Given the description of an element on the screen output the (x, y) to click on. 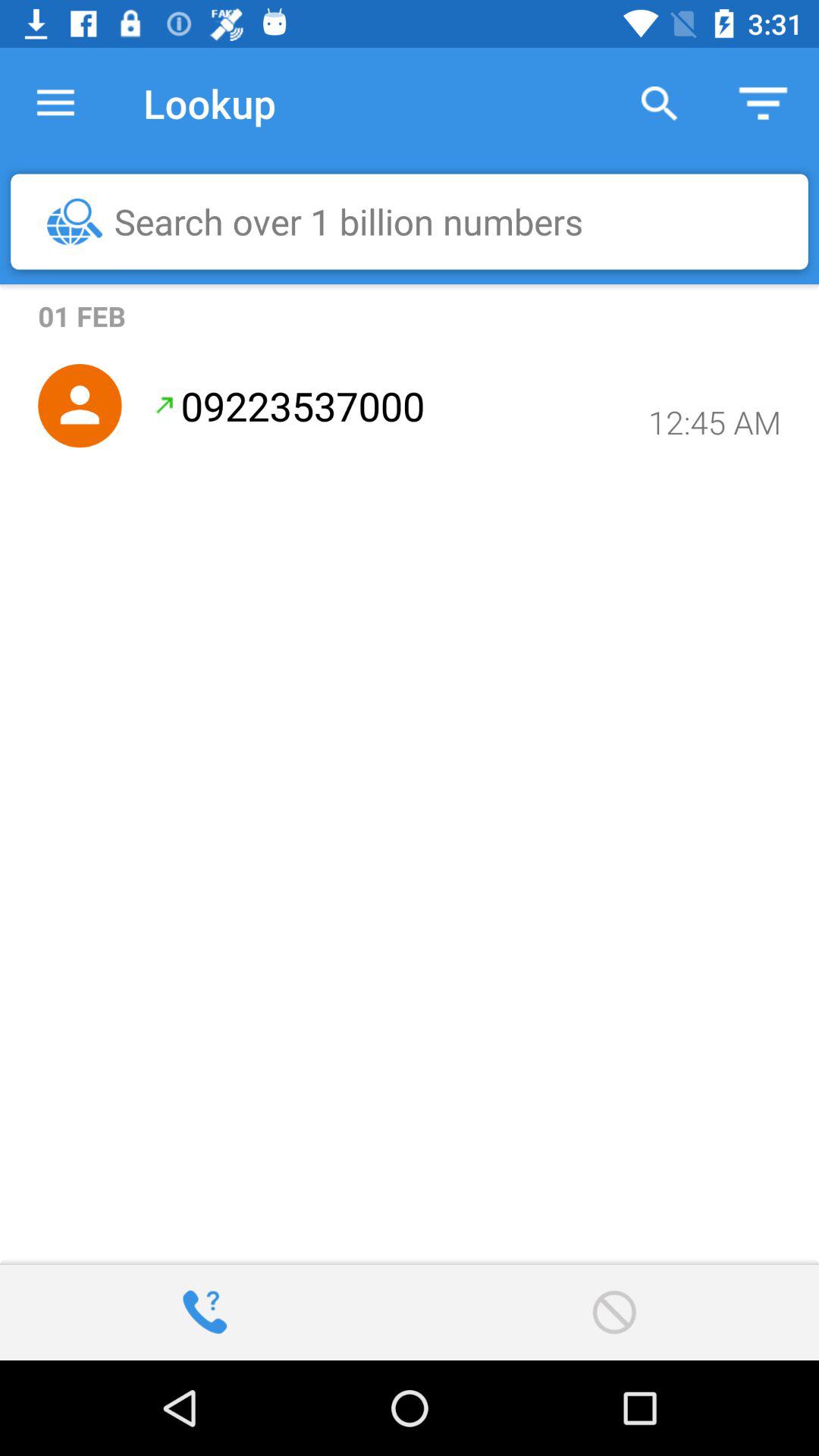
turn off the icon to the left of the lookup item (55, 103)
